Given the description of an element on the screen output the (x, y) to click on. 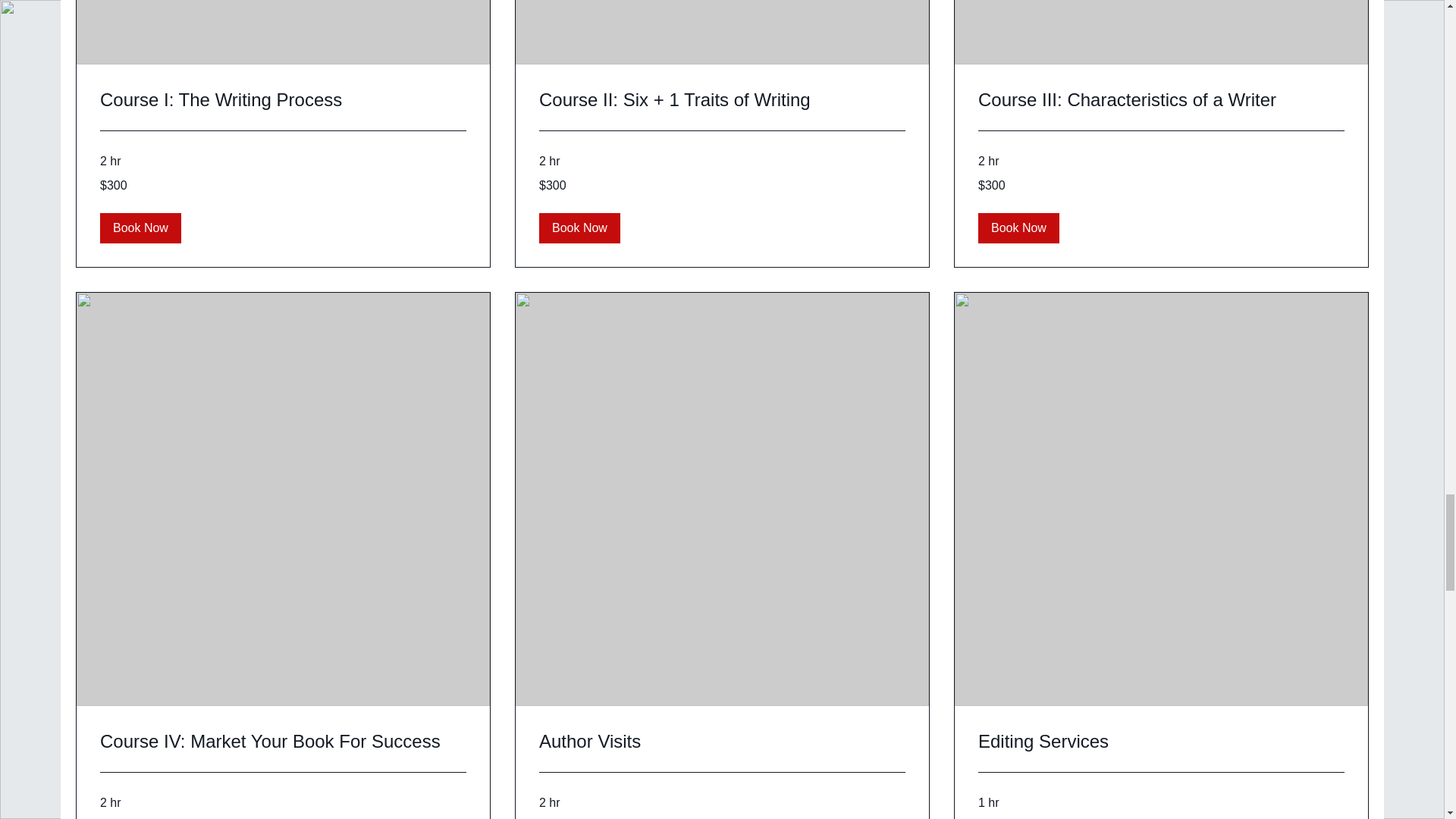
Book Now (140, 227)
Course I: The Writing Process (282, 99)
Author Visits (721, 741)
Book Now (1018, 227)
Course IV: Market Your Book For Success (282, 741)
Course III: Characteristics of a Writer (1160, 99)
Editing Services (1160, 741)
Book Now (579, 227)
